Given the description of an element on the screen output the (x, y) to click on. 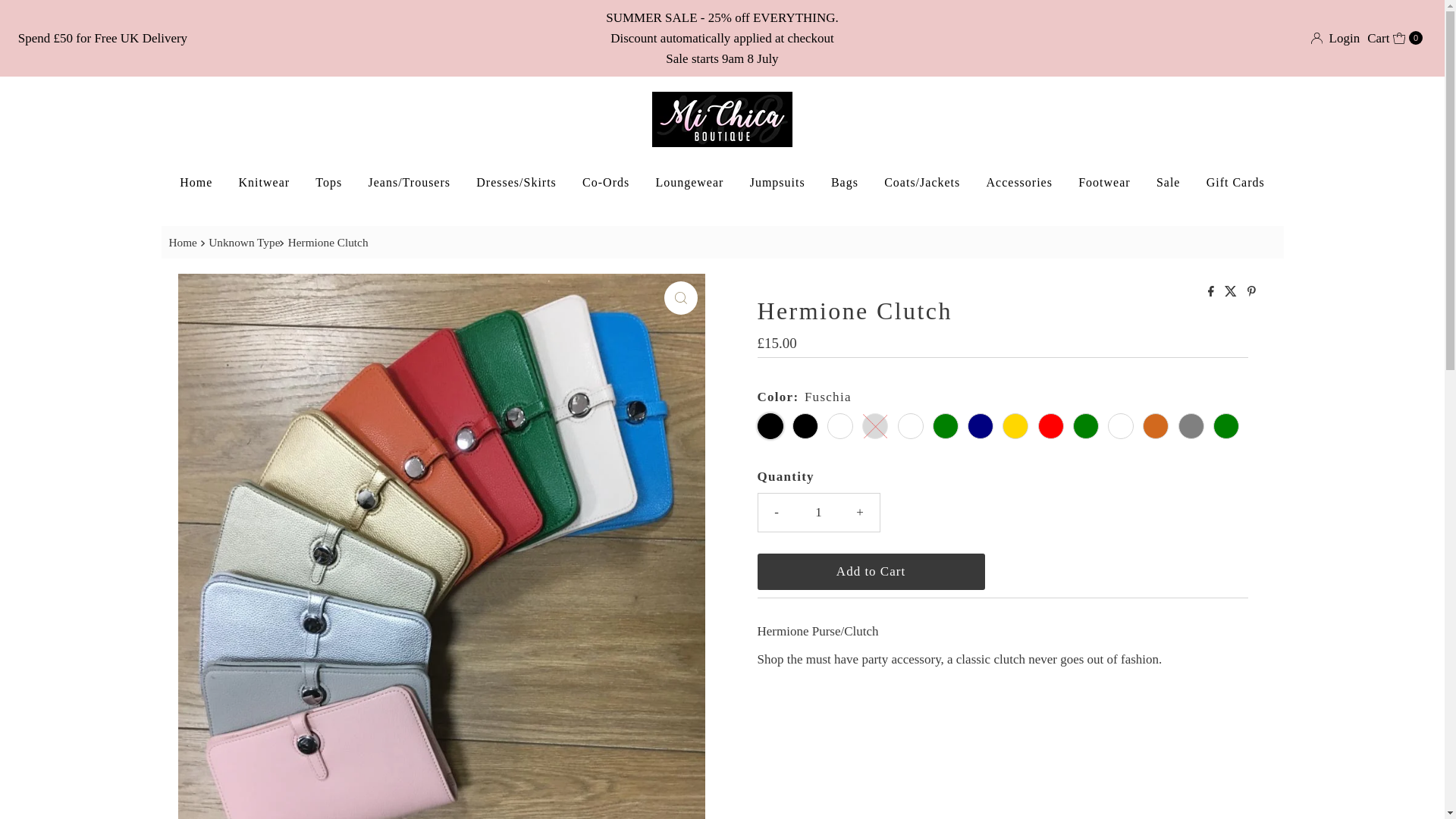
Loungewear (689, 182)
Back to the frontpage (184, 241)
Share on Twitter (1232, 291)
Home (196, 182)
Gift Cards (1235, 182)
Knitwear (264, 182)
Footwear (1104, 182)
Bags (844, 182)
1 (818, 512)
Co-Ords (605, 182)
Sale (1168, 182)
Jumpsuits (777, 182)
Add to Cart (870, 571)
  Login (1335, 37)
Accessories (1019, 182)
